Given the description of an element on the screen output the (x, y) to click on. 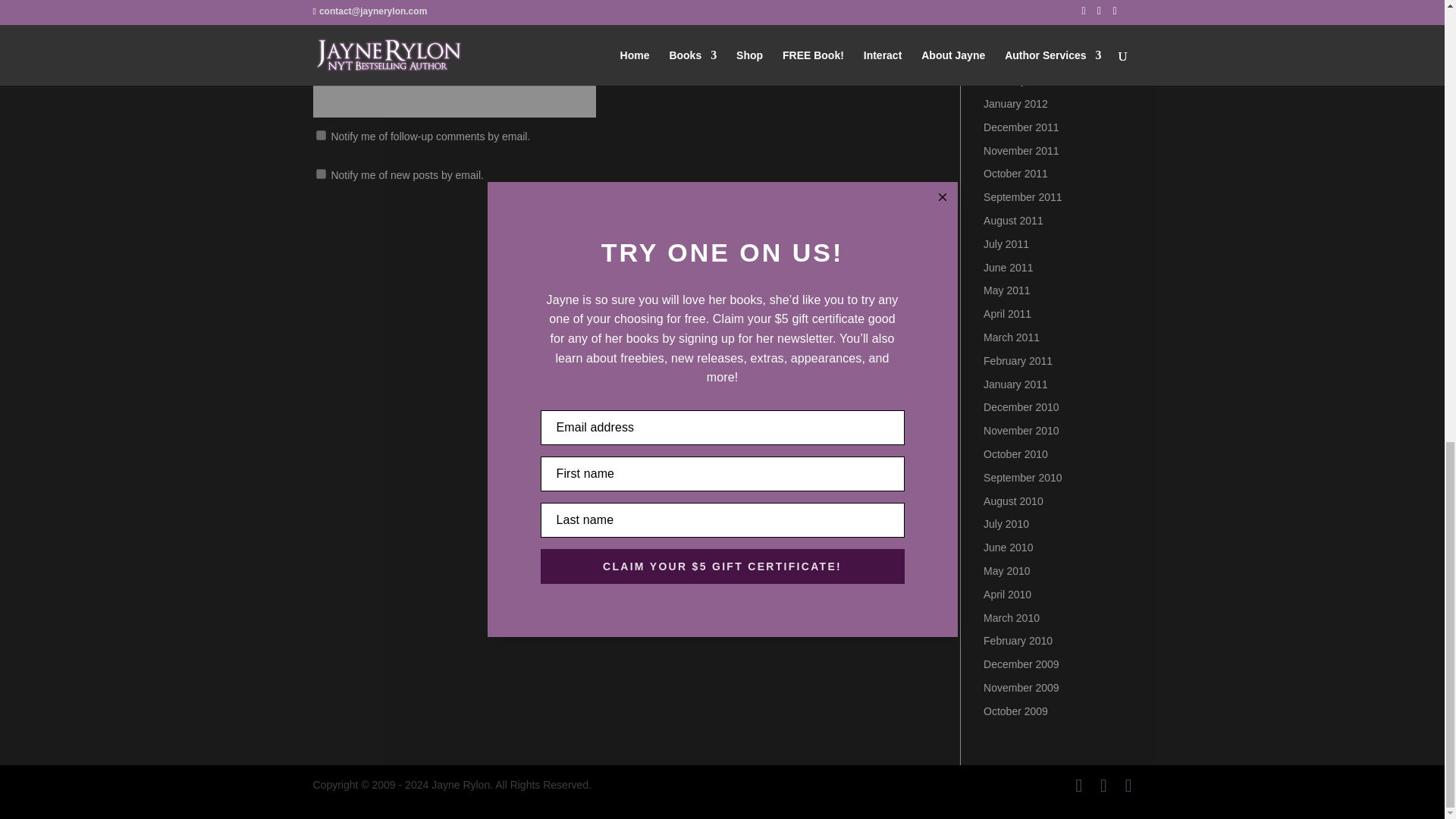
subscribe (319, 173)
Submit Comment (840, 225)
subscribe (319, 135)
Submit Comment (840, 225)
